Given the description of an element on the screen output the (x, y) to click on. 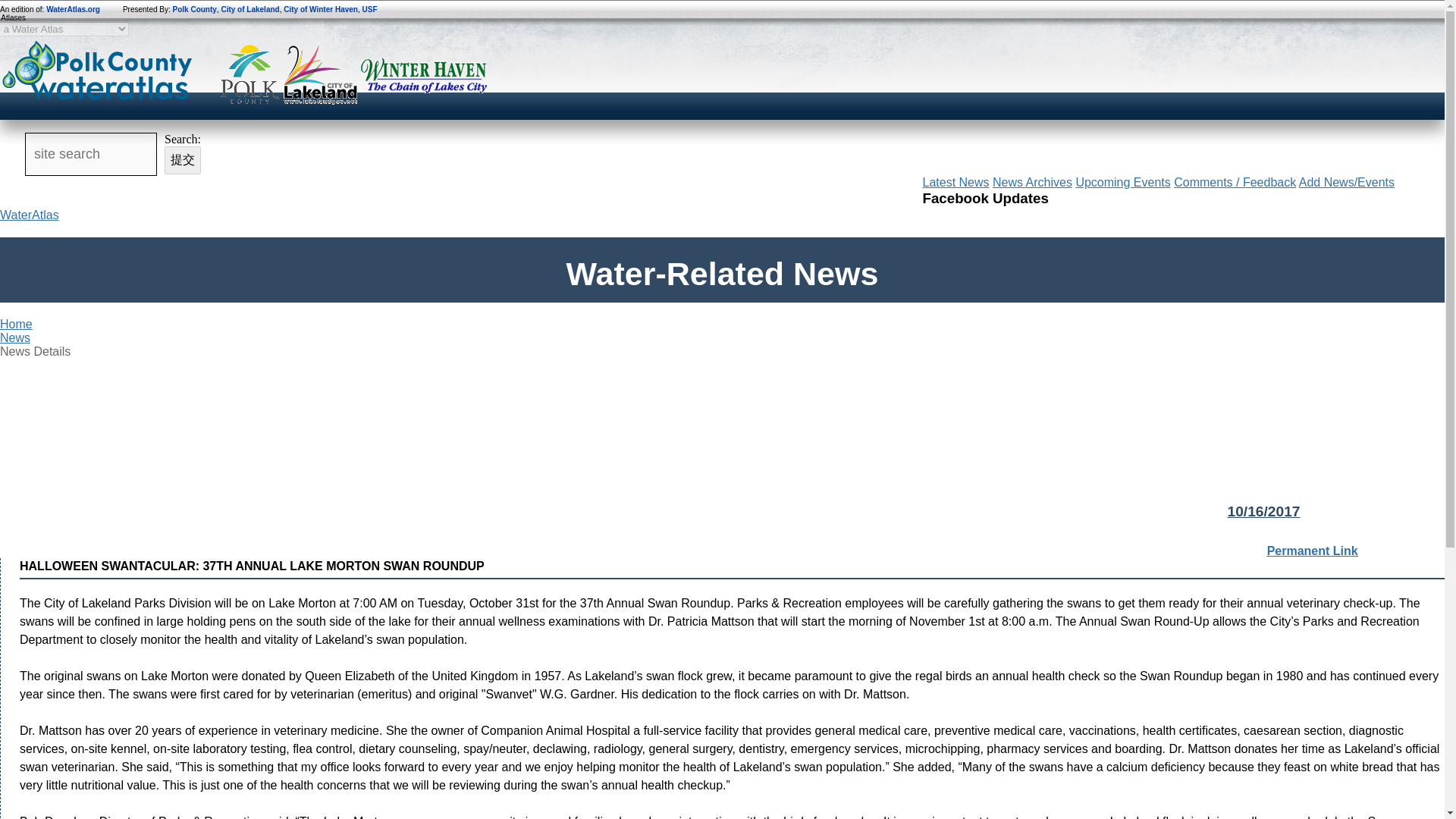
DISCOVER (444, 185)
LEARN (717, 185)
Polk County (194, 8)
WaterAtlas.org (73, 8)
USF (369, 8)
City of Winter Haven (424, 75)
City of Lakeland (250, 8)
Polk County (250, 75)
City of Winter Haven (320, 8)
City of Lakeland (319, 75)
